Given the description of an element on the screen output the (x, y) to click on. 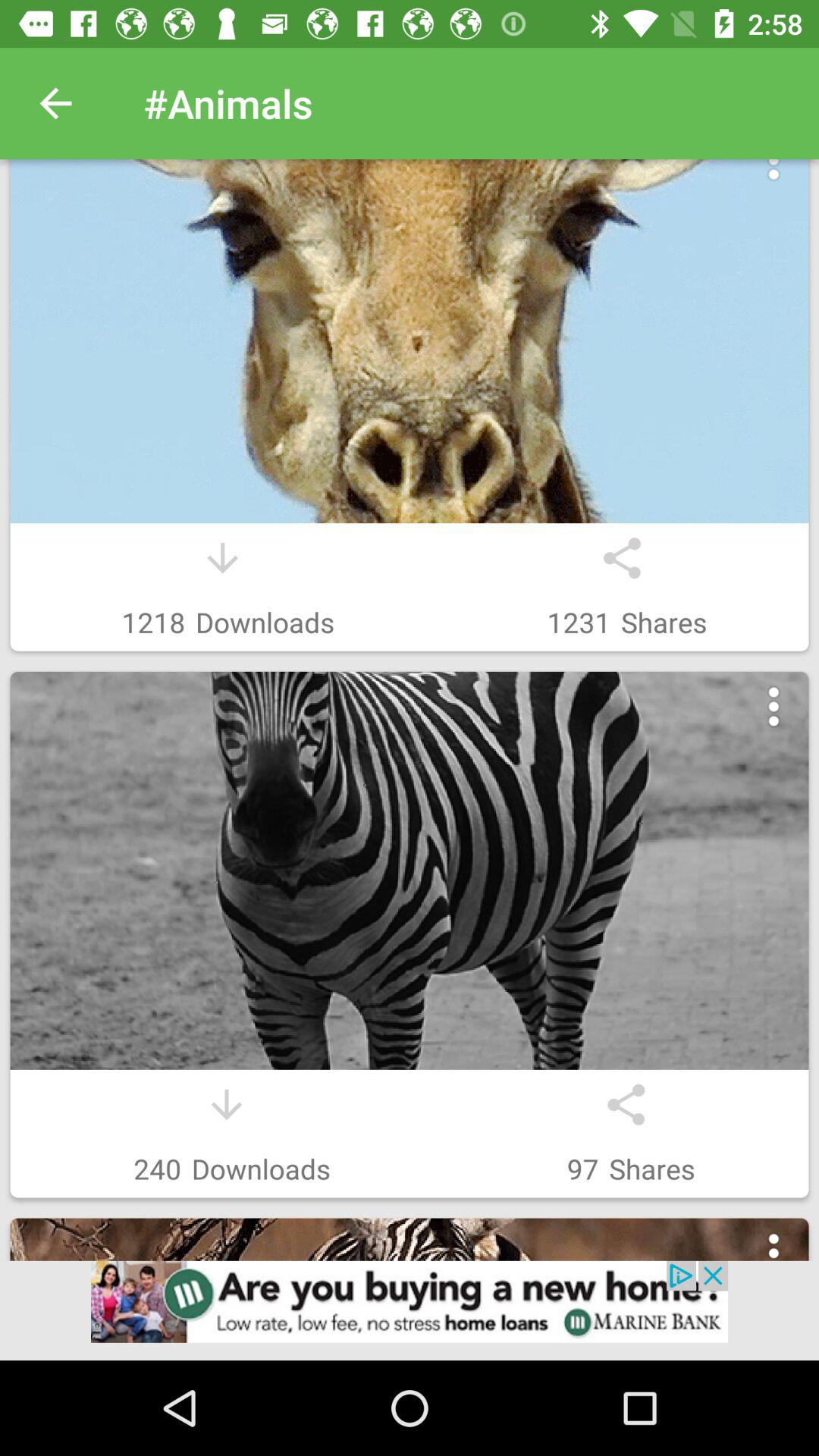
open image options menu (773, 1253)
